Given the description of an element on the screen output the (x, y) to click on. 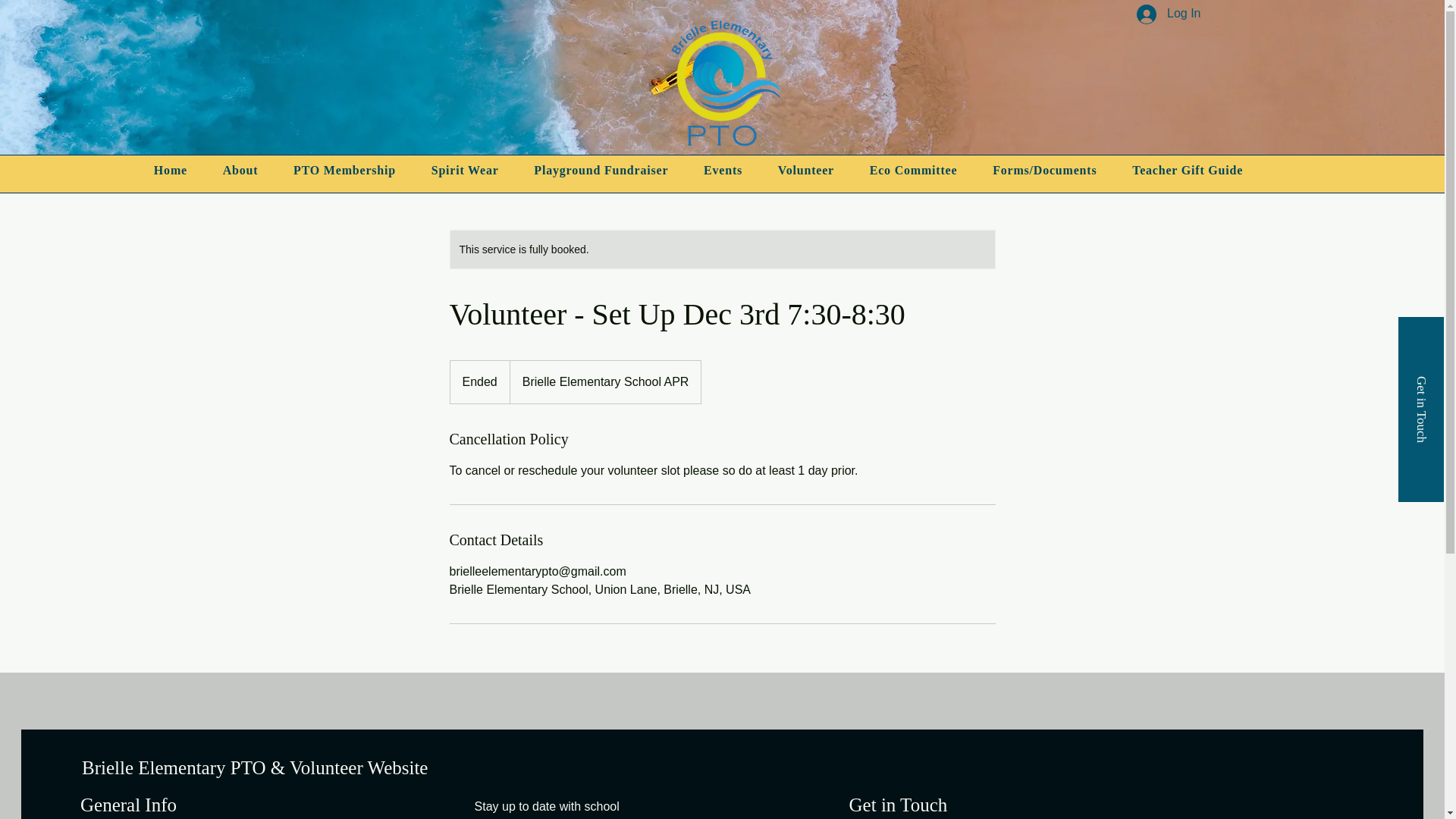
Home (170, 170)
Playground Fundraiser (600, 170)
Spirit Wear (464, 170)
About (240, 170)
Eco Committee (912, 170)
Teacher Gift Guide (1187, 170)
Log In (1168, 14)
